Given the description of an element on the screen output the (x, y) to click on. 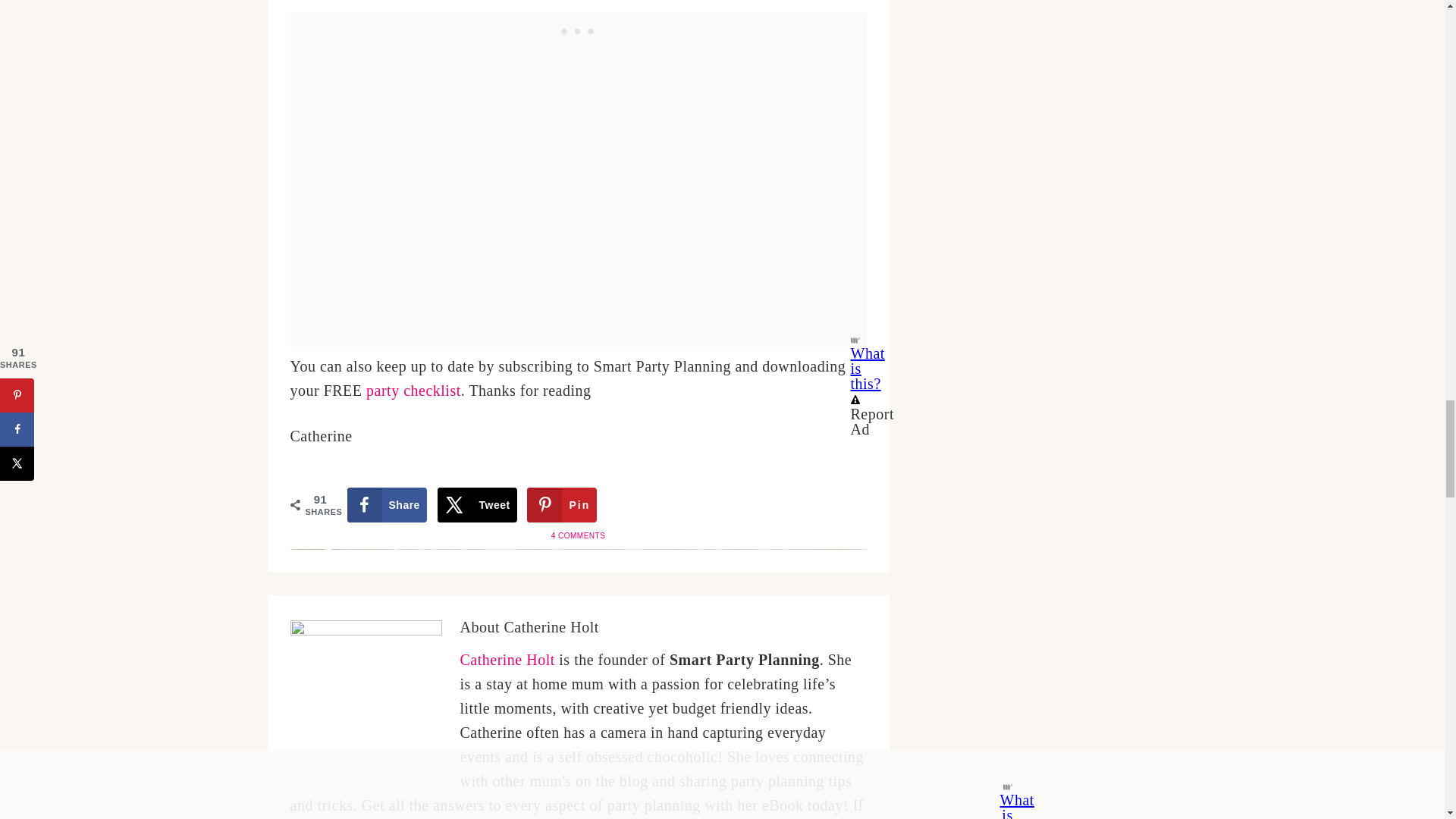
Save to Pinterest (561, 504)
3rd party ad content (577, 31)
Click here to download your FREE Party Checklist (413, 390)
Share on X (477, 504)
Share on Facebook (386, 504)
